Given the description of an element on the screen output the (x, y) to click on. 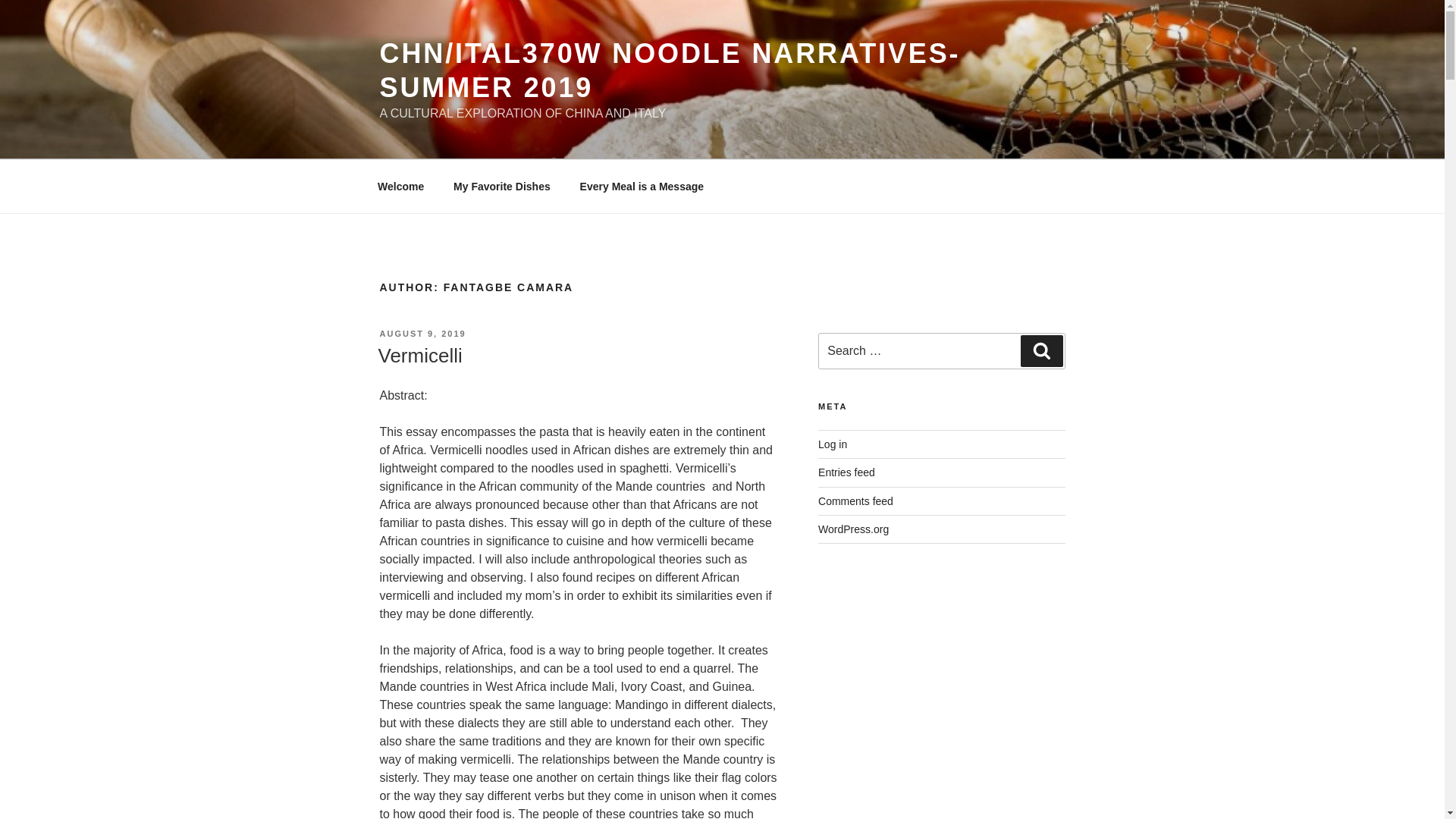
Welcome (400, 186)
Comments feed (855, 500)
Vermicelli (419, 354)
Entries feed (846, 472)
Every Meal is a Message (641, 186)
Search (1041, 350)
WordPress.org (853, 529)
My Favorite Dishes (502, 186)
Log in (832, 444)
AUGUST 9, 2019 (421, 333)
